Given the description of an element on the screen output the (x, y) to click on. 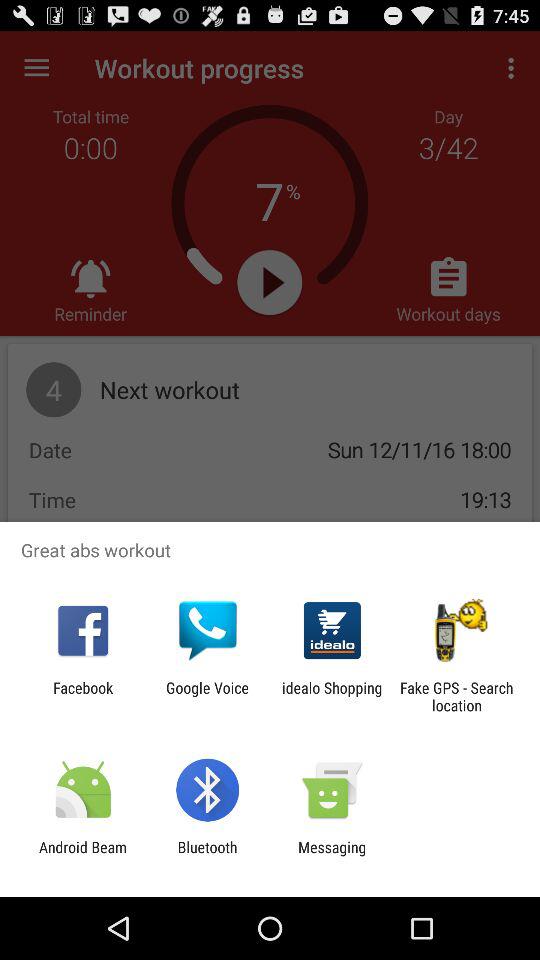
press the app next to the facebook (207, 696)
